Given the description of an element on the screen output the (x, y) to click on. 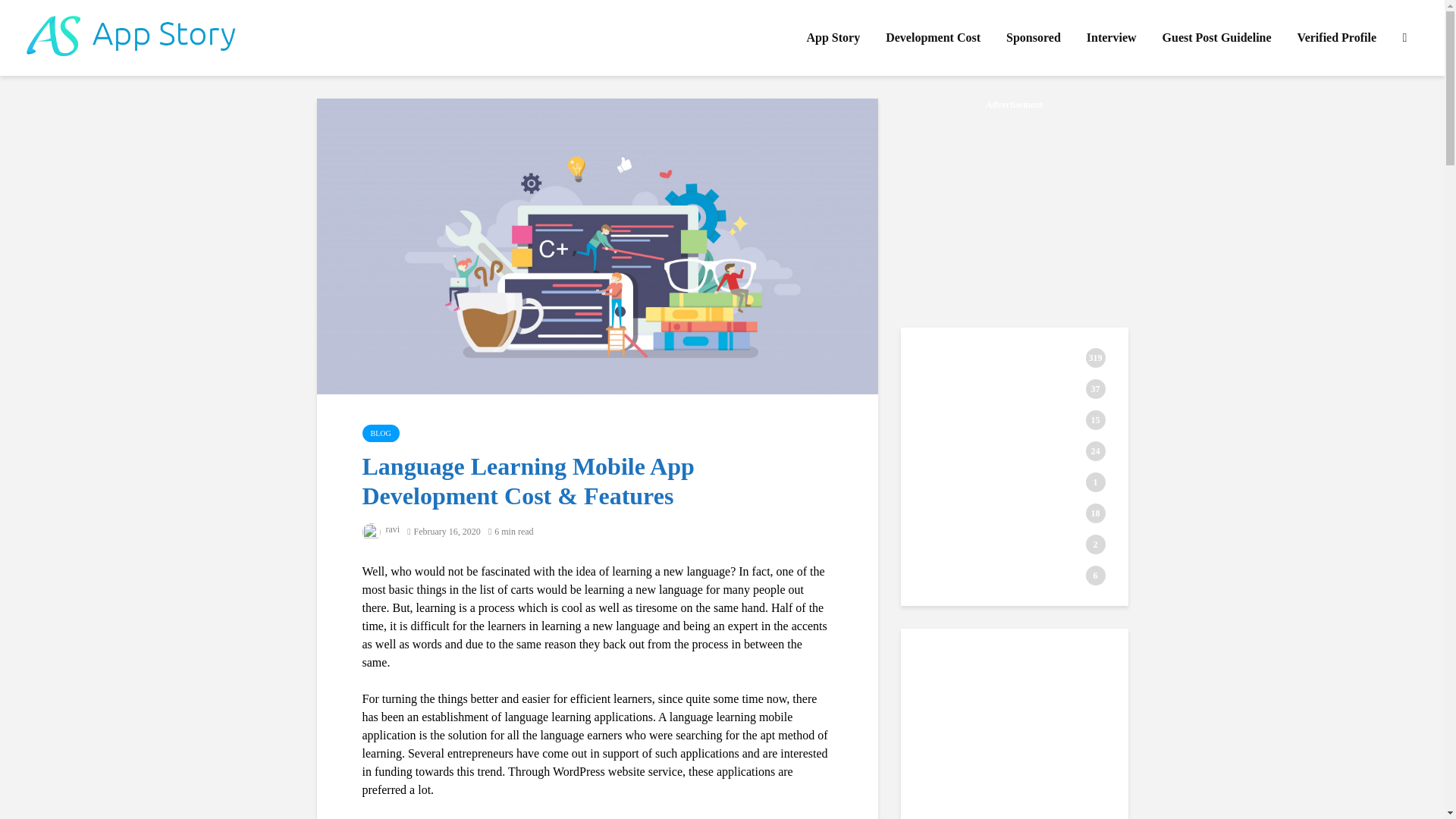
Sponsored (1032, 37)
App Story (832, 37)
Development Cost (933, 37)
